Given the description of an element on the screen output the (x, y) to click on. 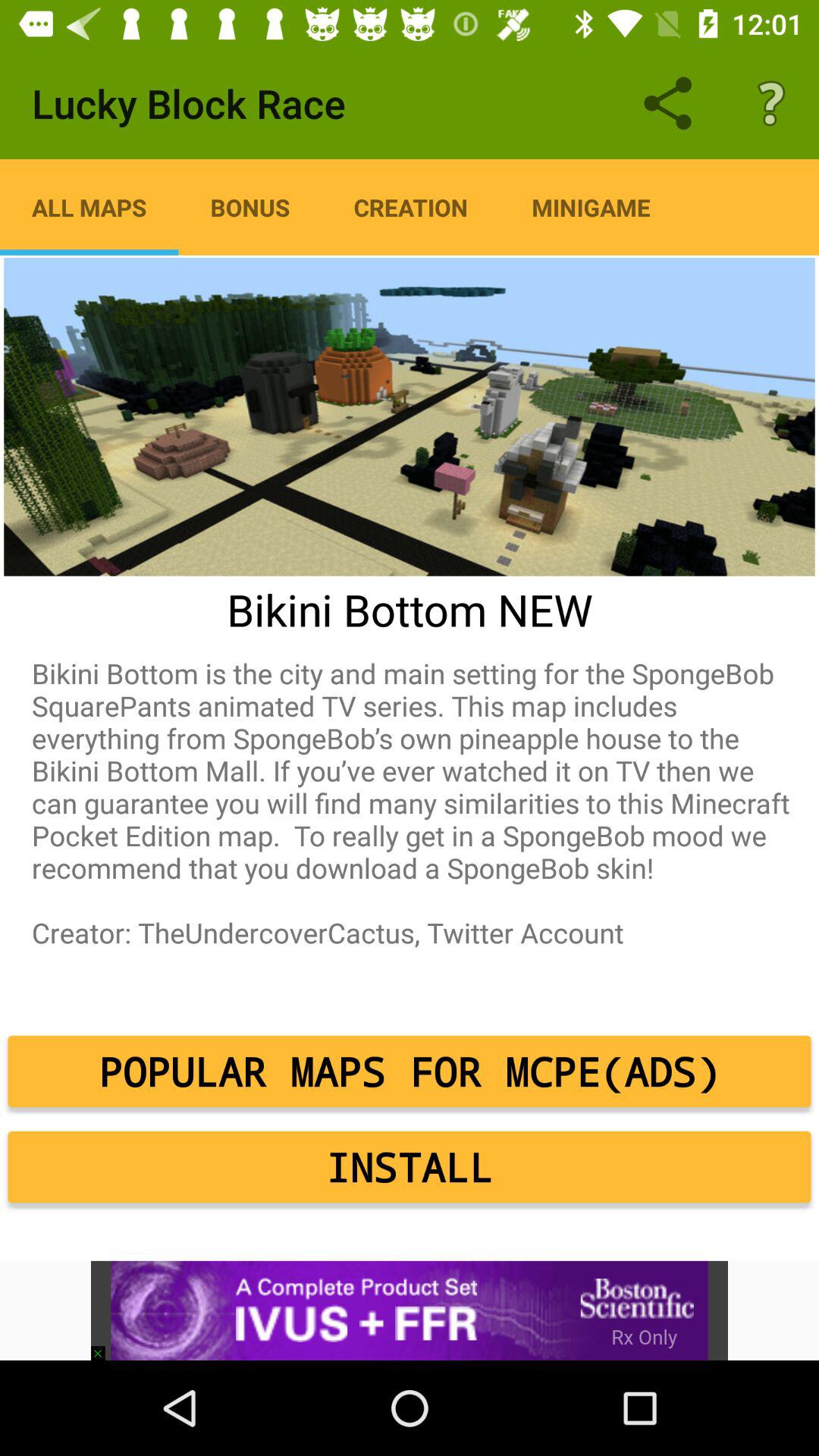
view advertisement in new app (409, 1310)
